Given the description of an element on the screen output the (x, y) to click on. 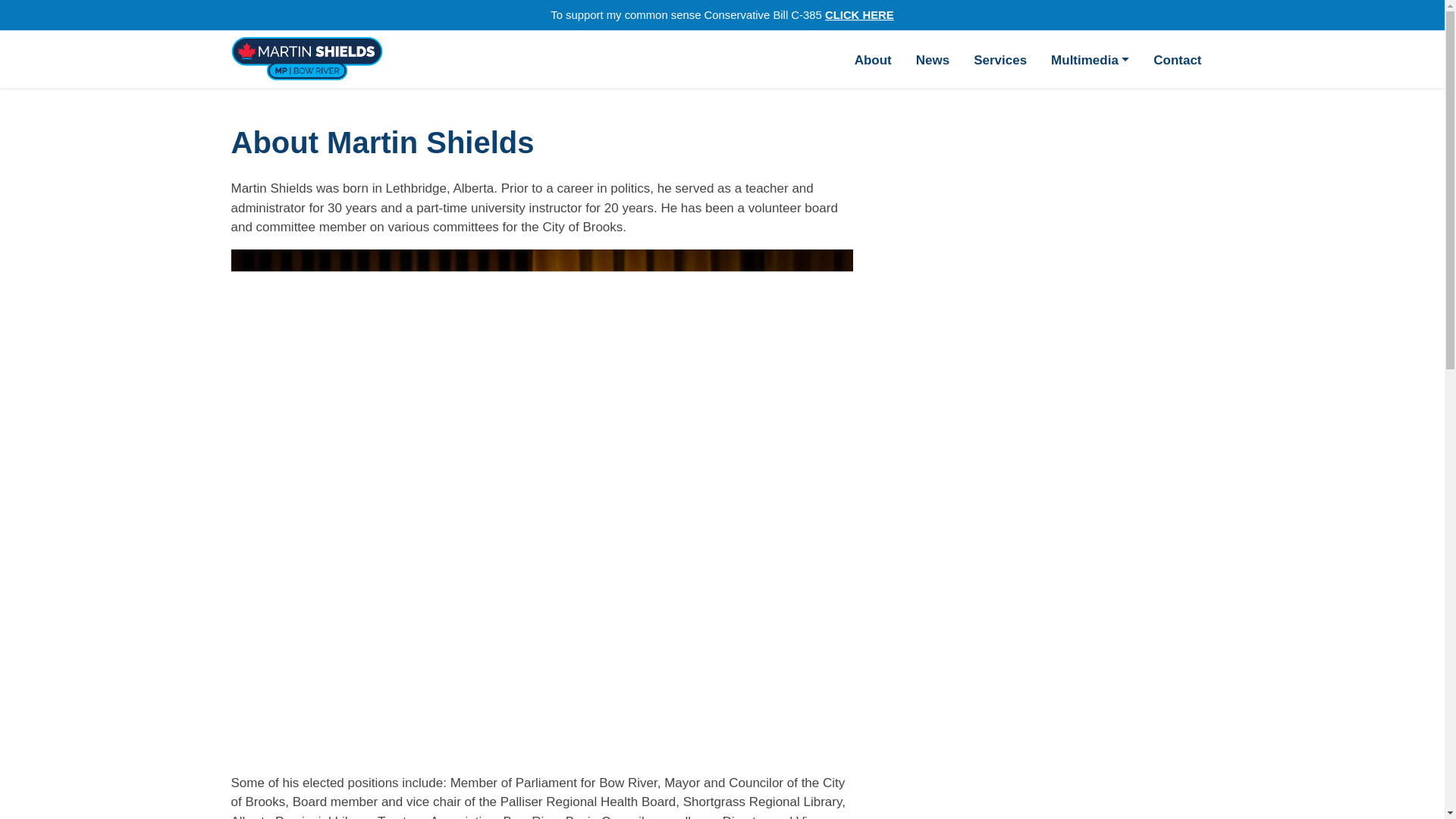
Contact (1176, 59)
CLICK HERE (859, 15)
Multimedia (1090, 59)
About (873, 59)
News (932, 59)
Services (999, 59)
